Given the description of an element on the screen output the (x, y) to click on. 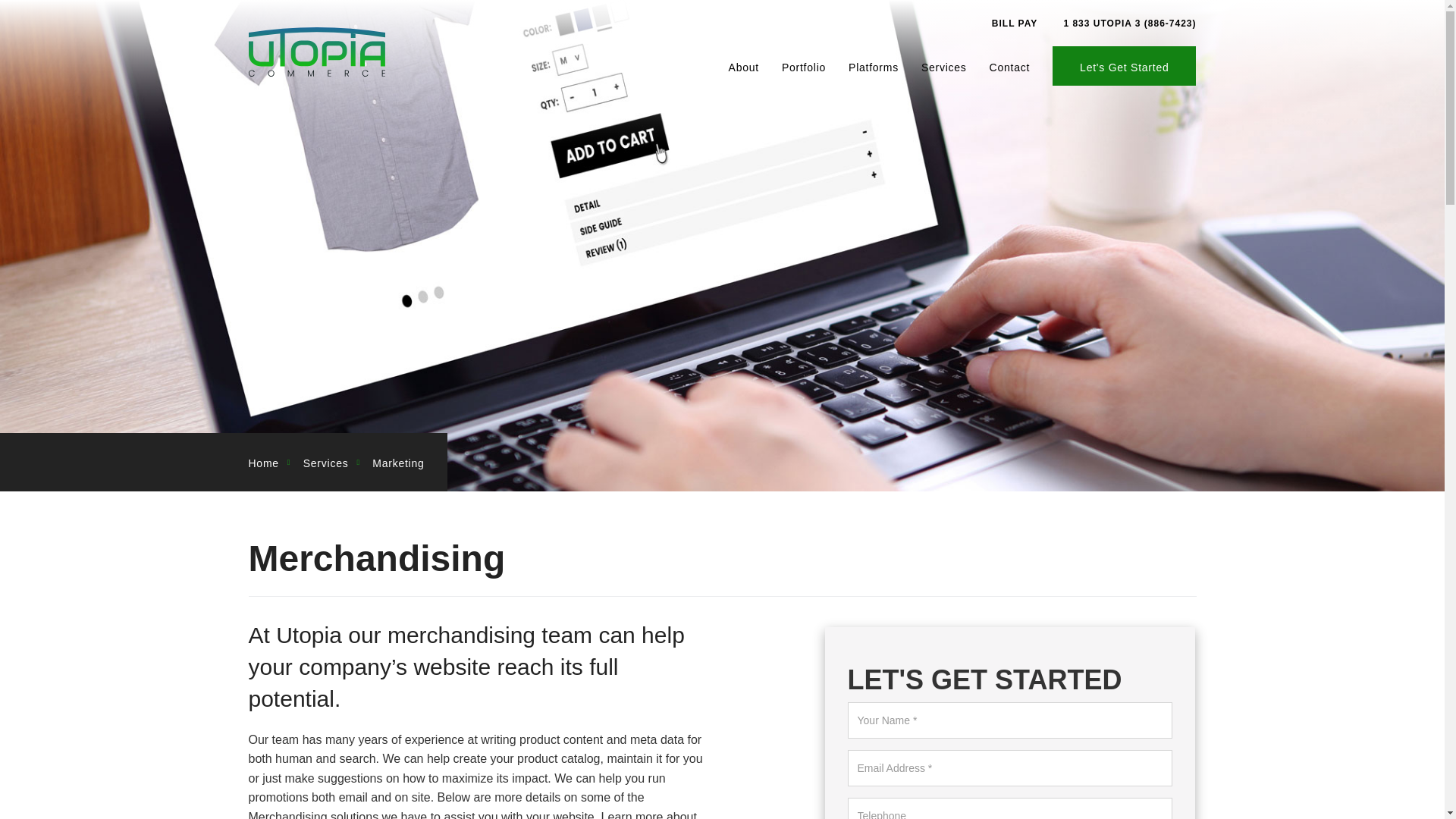
About (743, 65)
BILL PAY (1012, 23)
Platforms (873, 65)
Portfolio (803, 65)
Services (944, 65)
